Given the description of an element on the screen output the (x, y) to click on. 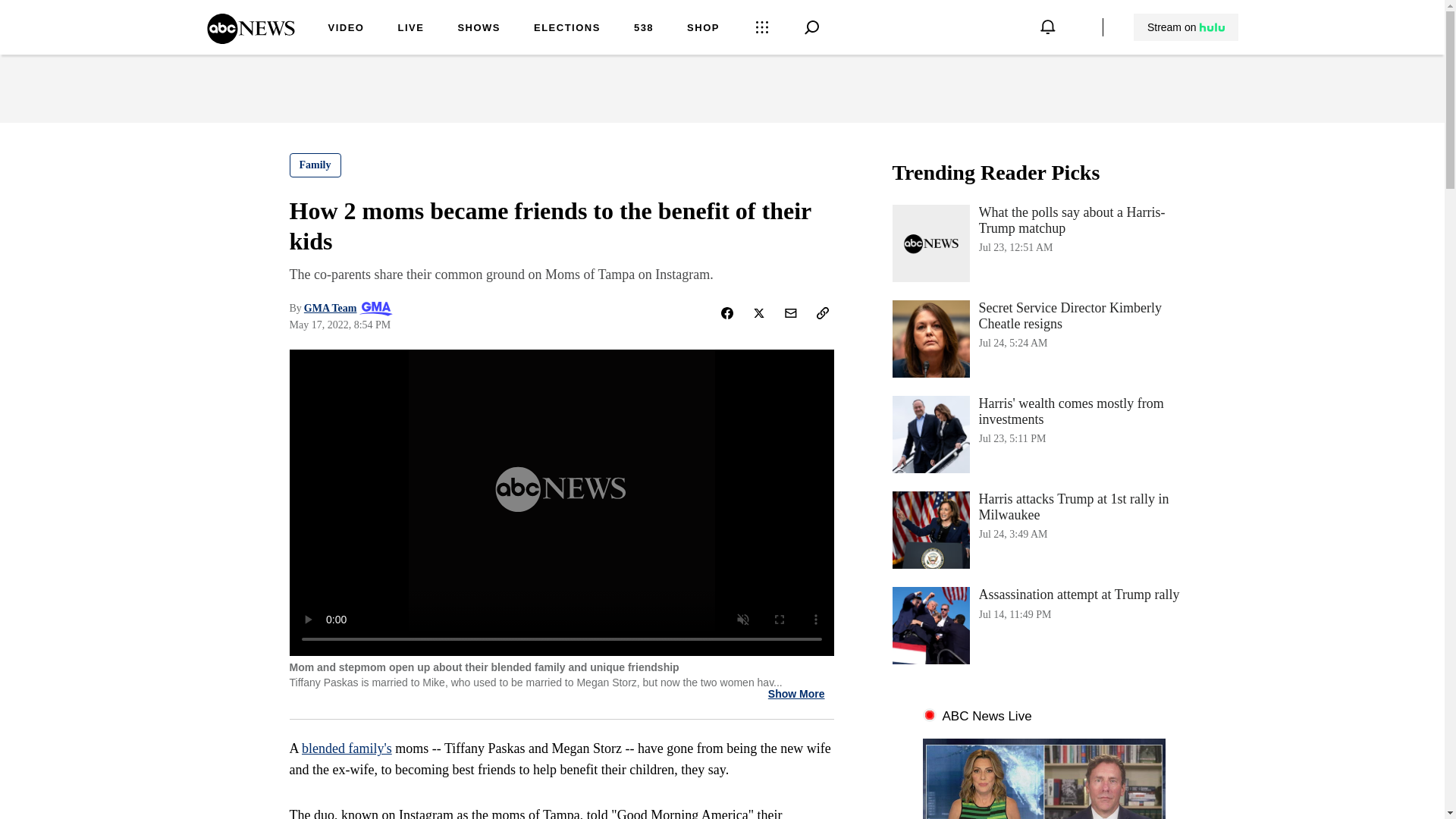
GMA Team (330, 307)
Show More (796, 694)
blended family's (346, 748)
VIDEO (345, 28)
SHOP (1043, 625)
538 (703, 28)
ELECTIONS (643, 28)
Stream on (566, 28)
Stream on (1186, 26)
SHOWS (1185, 27)
LIVE (1043, 434)
